Given the description of an element on the screen output the (x, y) to click on. 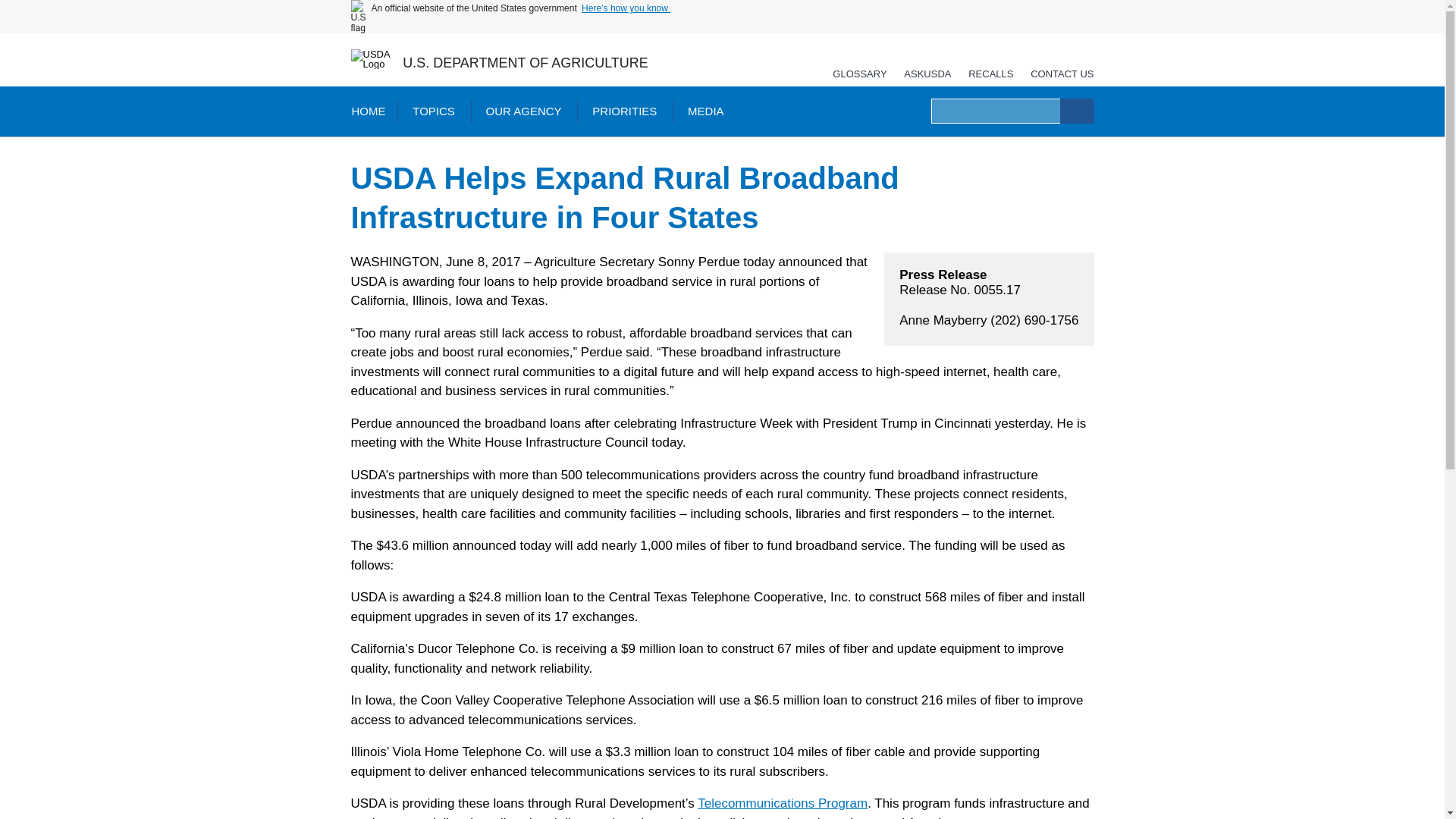
Home (370, 58)
OUR AGENCY (523, 111)
TOPICS (433, 111)
PRIORITIES (623, 111)
HOME (367, 111)
Home (525, 62)
U.S. DEPARTMENT OF AGRICULTURE (525, 62)
